Given the description of an element on the screen output the (x, y) to click on. 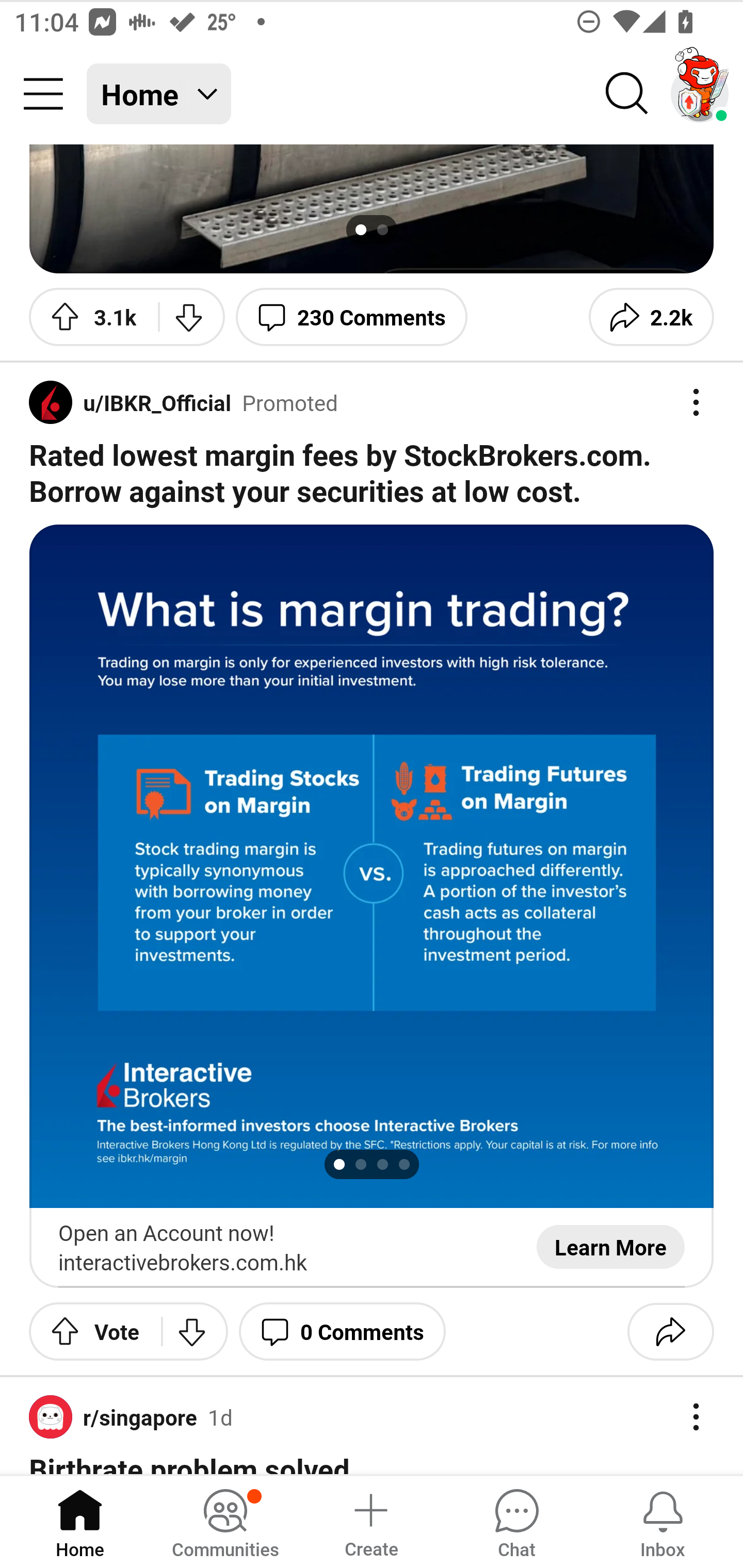
Community menu (43, 93)
Home Home feed (158, 93)
Search (626, 93)
TestAppium002 account (699, 93)
Image 1 of 4 (371, 866)
Home (80, 1520)
Communities, has notifications Communities (225, 1520)
Create a post Create (370, 1520)
Chat (516, 1520)
Inbox (662, 1520)
